Given the description of an element on the screen output the (x, y) to click on. 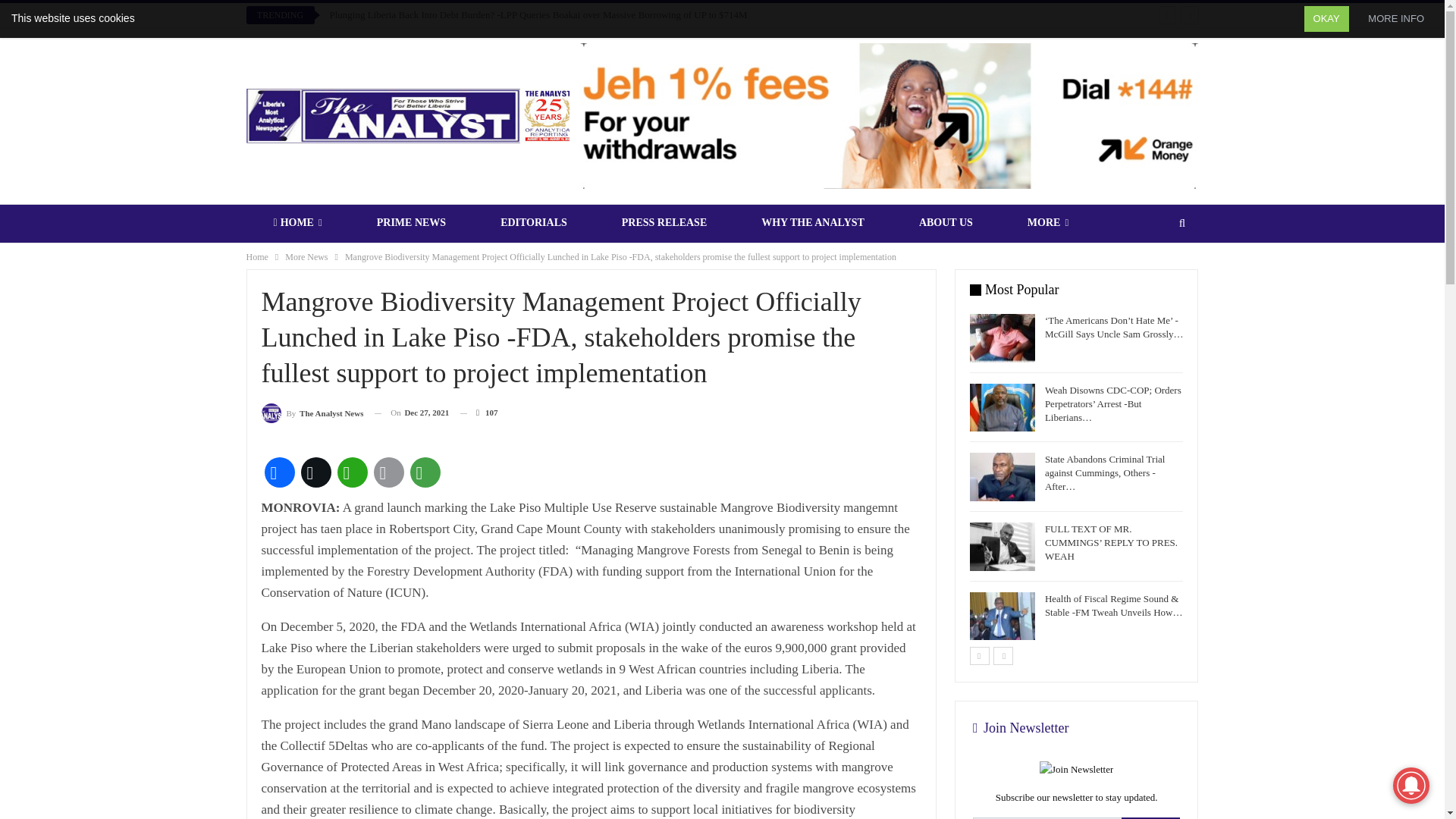
Email This (387, 472)
PRIME NEWS (411, 222)
PRESS RELEASE (663, 222)
WHY THE ANALYST (812, 222)
WhatsApp (351, 472)
ABOUT US (945, 222)
More News (306, 256)
More Options (424, 472)
EDITORIALS (533, 222)
Facebook (278, 472)
